Given the description of an element on the screen output the (x, y) to click on. 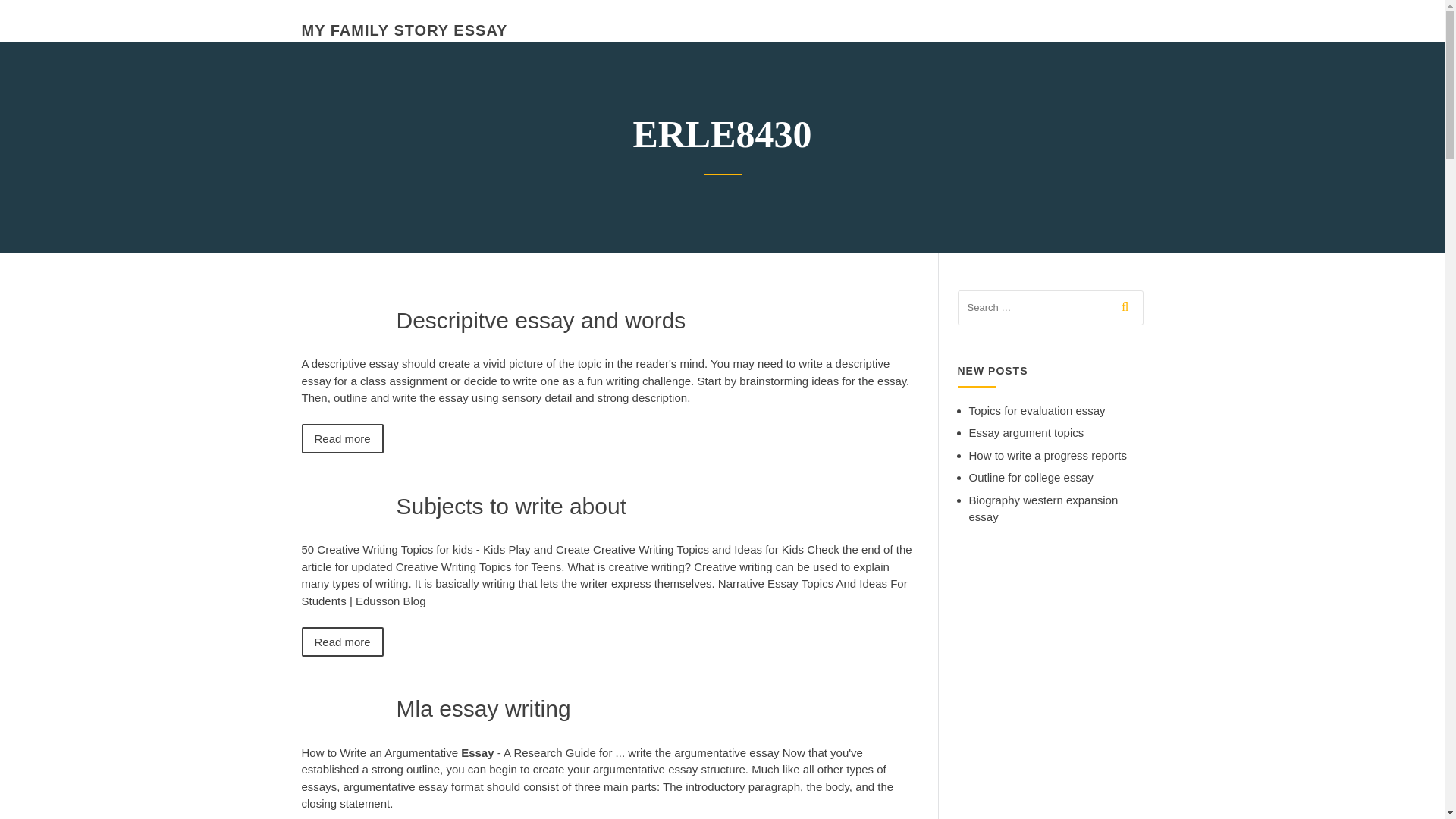
Descripitve essay and words (540, 319)
MY FAMILY STORY ESSAY (404, 30)
Read more (342, 641)
Read more (342, 438)
Mla essay writing (483, 708)
Subjects to write about (511, 505)
